Given the description of an element on the screen output the (x, y) to click on. 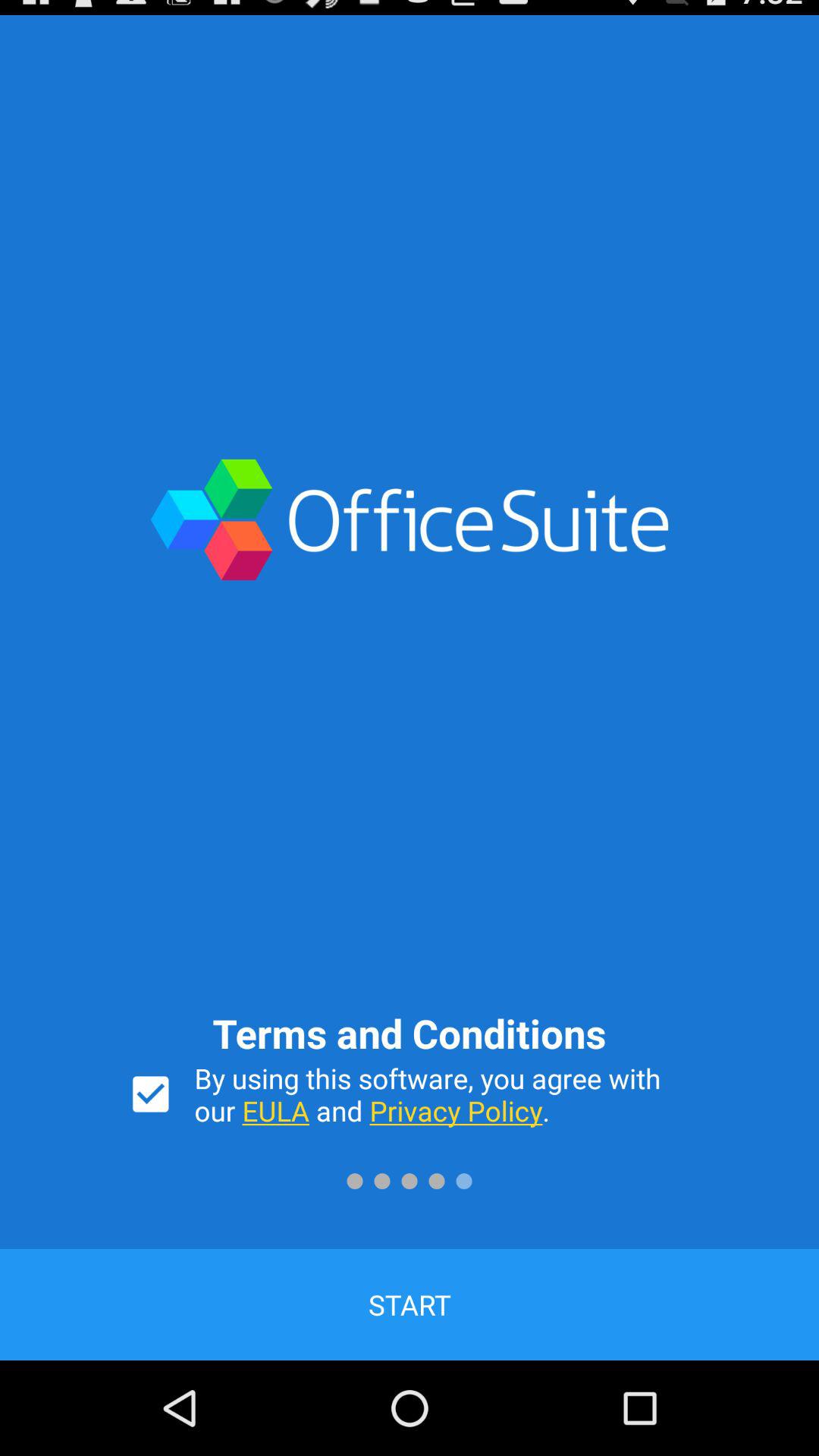
check box to accept terms and conditions (150, 1093)
